Given the description of an element on the screen output the (x, y) to click on. 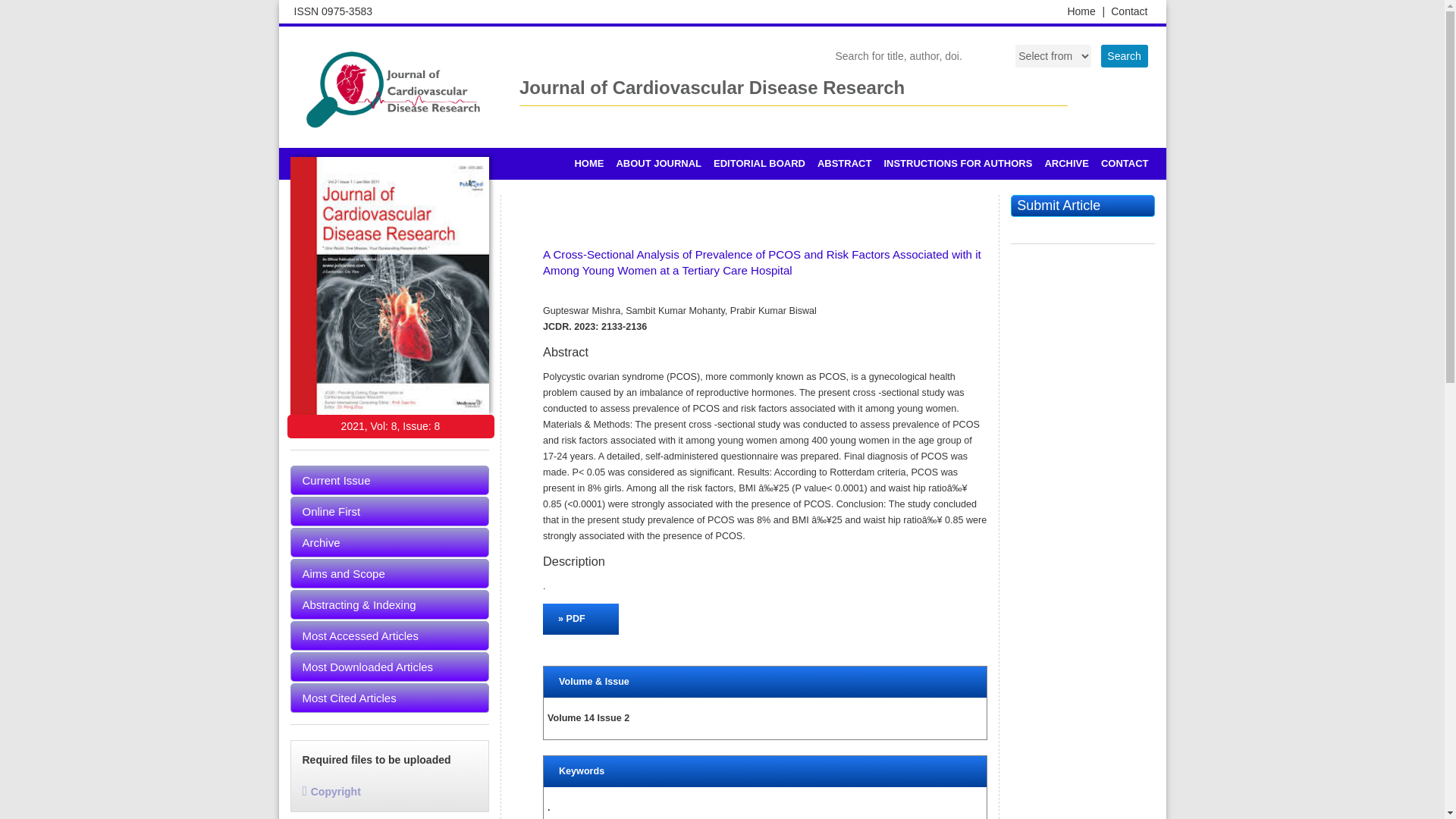
Copyright (330, 791)
CONTACT (1124, 163)
Aims and Scope (389, 573)
Most Downloaded Articles (389, 666)
Most Accessed Articles (389, 635)
EDITORIAL BOARD (758, 163)
Search (1124, 56)
Online First (389, 511)
Current Issue (389, 480)
ABSTRACT (843, 163)
Submit Article (1082, 205)
ARCHIVE (1066, 163)
Search (1124, 56)
ABOUT JOURNAL (658, 163)
HOME (588, 163)
